Given the description of an element on the screen output the (x, y) to click on. 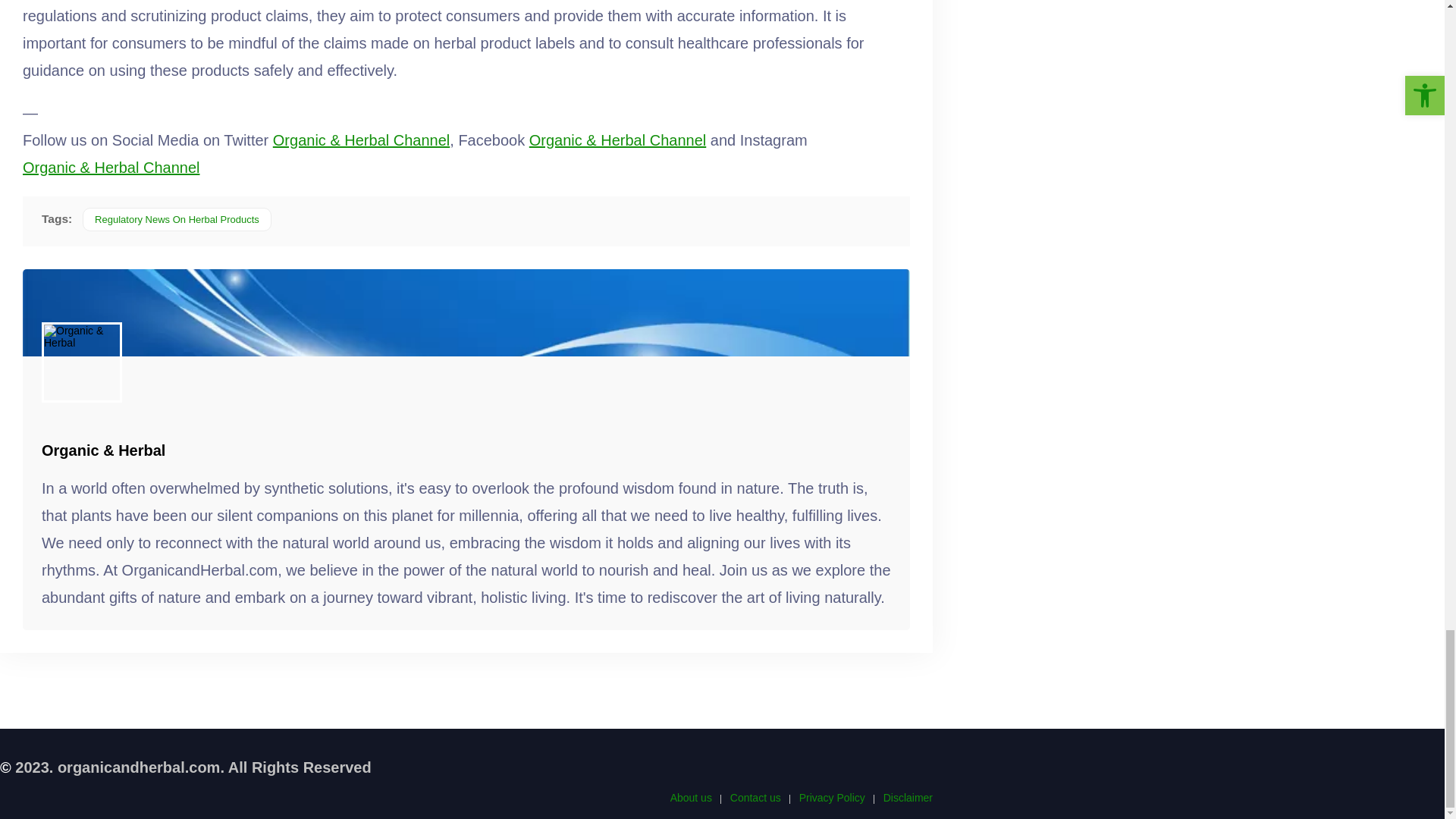
Contact us (755, 797)
About us (690, 797)
Disclaimer (908, 797)
Privacy Policy (831, 797)
Regulatory News On Herbal Products (176, 219)
